Given the description of an element on the screen output the (x, y) to click on. 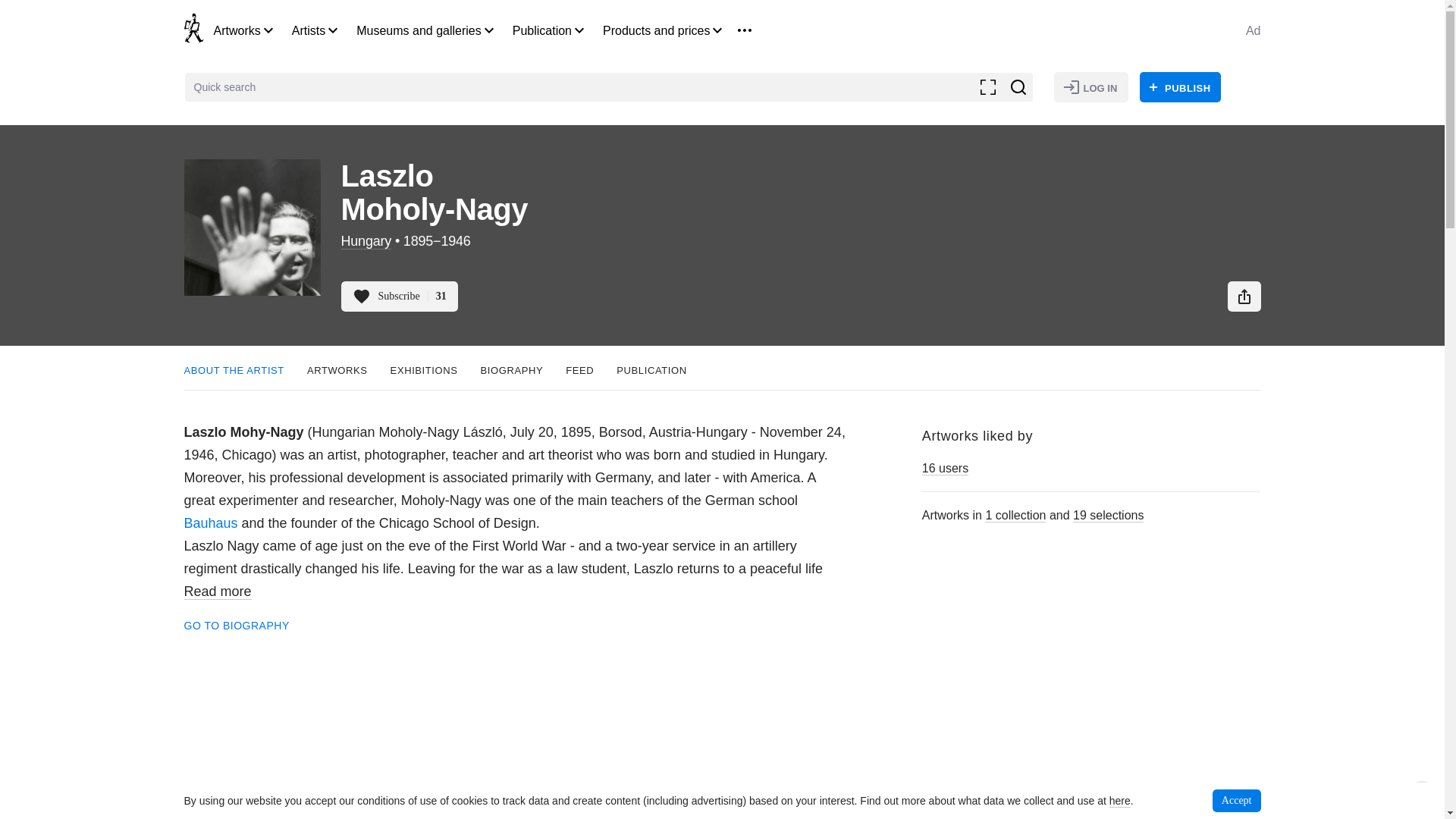
Advertisement (517, 724)
Artworks (237, 30)
Artists (308, 30)
Publication (542, 30)
here (1120, 800)
Accept (1236, 800)
Subscribe (399, 296)
Museums and galleries (418, 30)
